Given the description of an element on the screen output the (x, y) to click on. 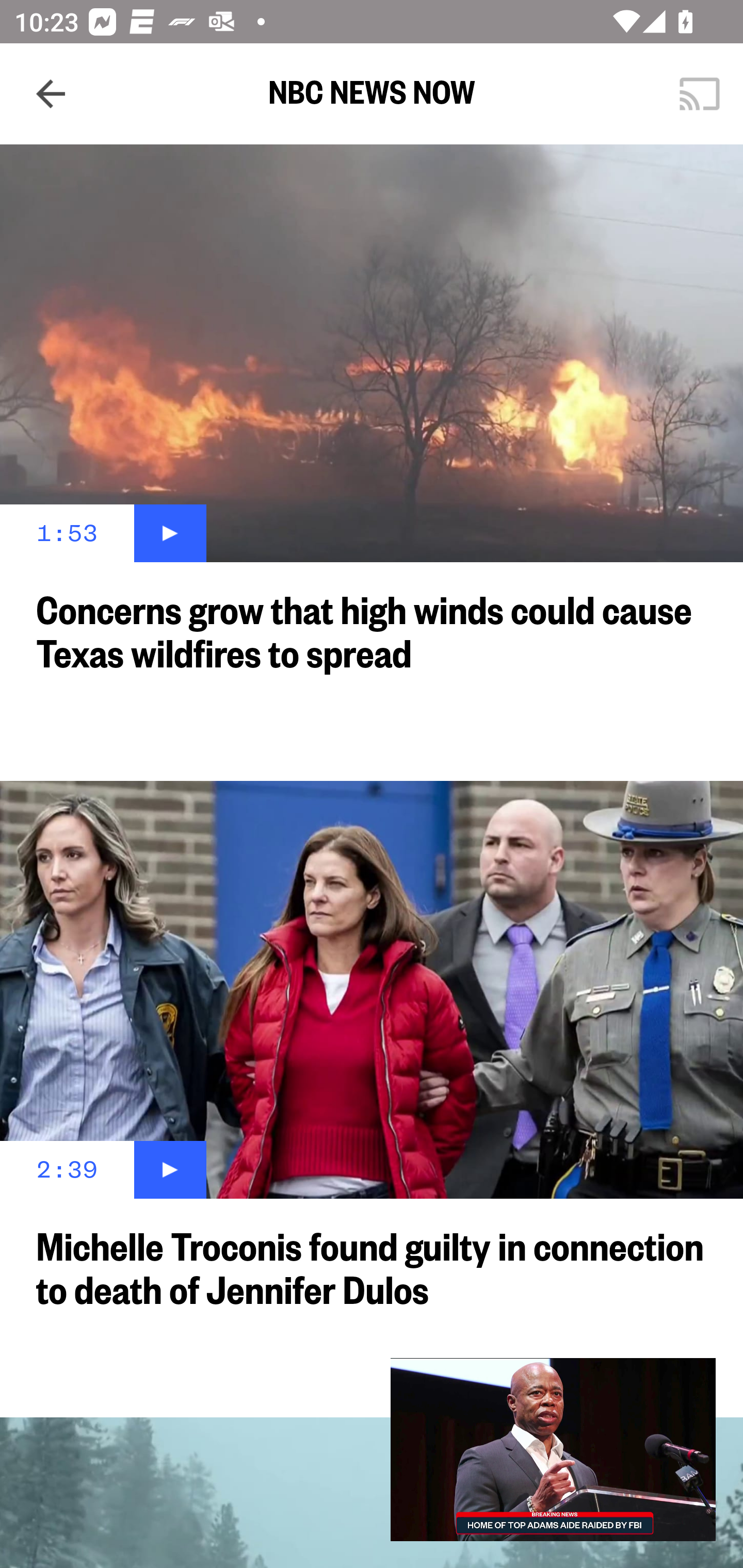
Navigate up (50, 93)
Cast. Disconnected (699, 93)
